Given the description of an element on the screen output the (x, y) to click on. 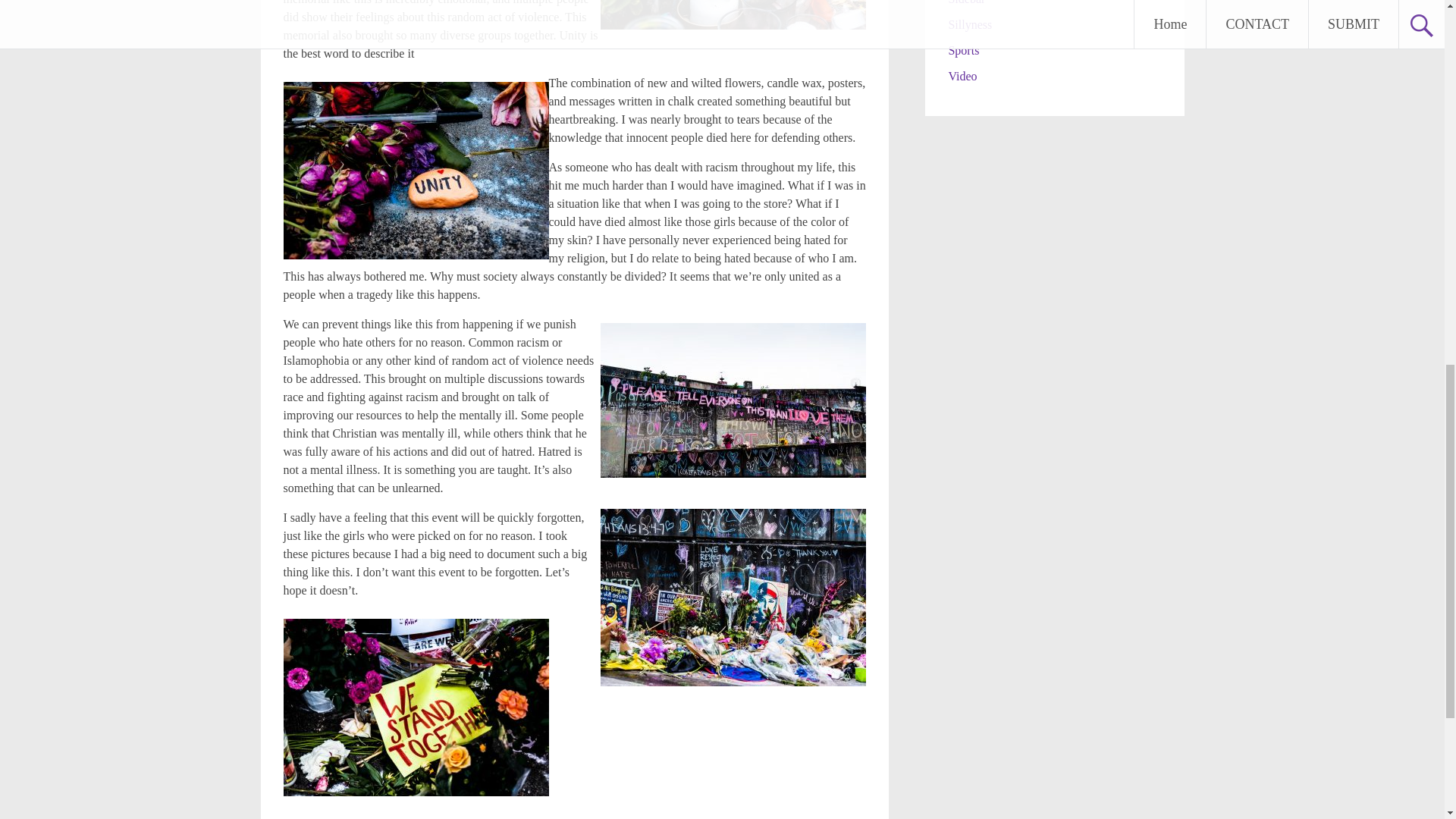
Sports (962, 50)
Sidebar (966, 2)
Video (961, 75)
Sillyness (969, 24)
